Given the description of an element on the screen output the (x, y) to click on. 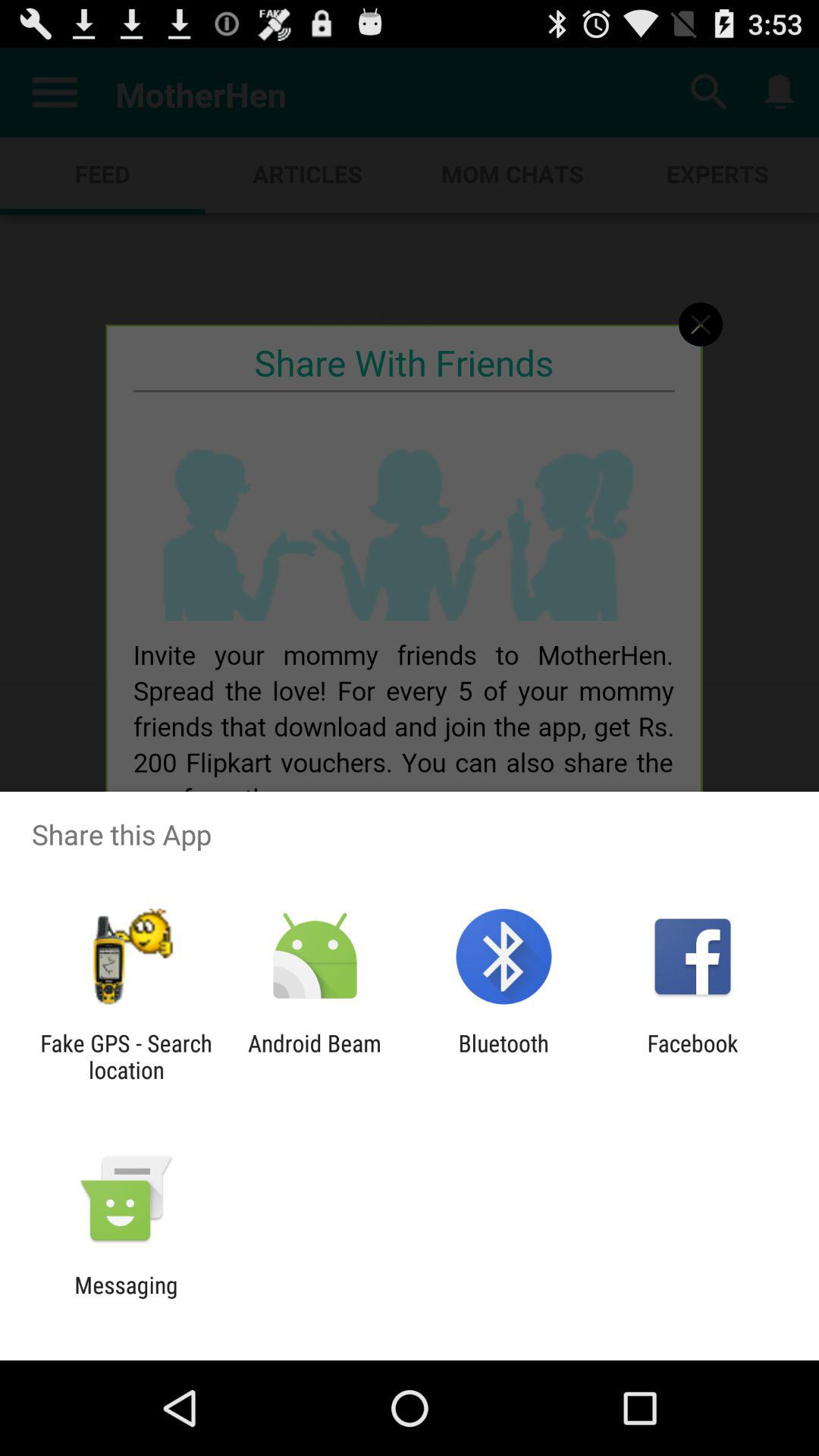
open icon next to the facebook app (503, 1056)
